Given the description of an element on the screen output the (x, y) to click on. 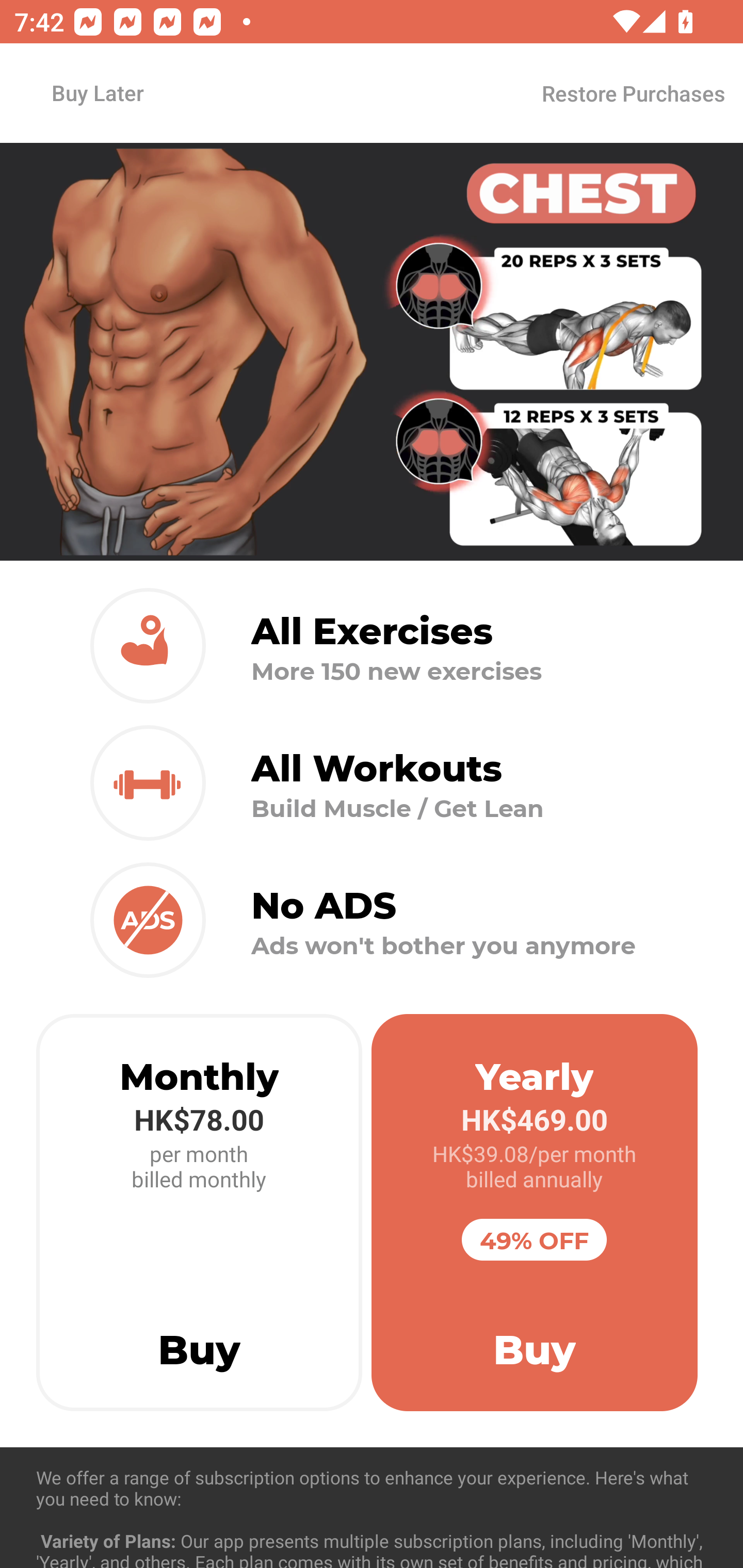
Restore Purchases (632, 92)
Buy Later (96, 92)
Monthly HK$78.00 per month
billed monthly Buy (199, 1212)
